Given the description of an element on the screen output the (x, y) to click on. 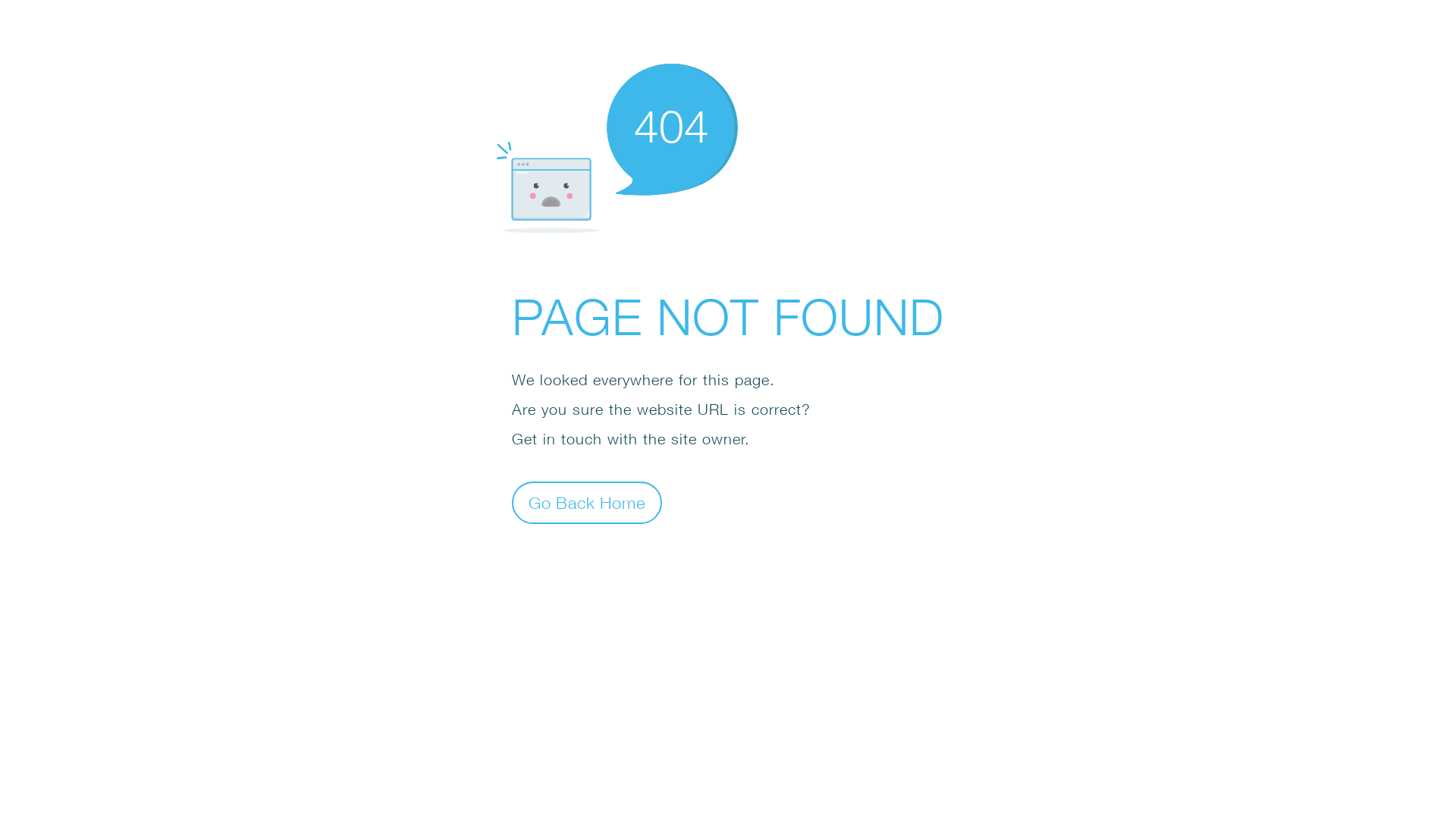
Go Back Home Element type: text (586, 502)
